Given the description of an element on the screen output the (x, y) to click on. 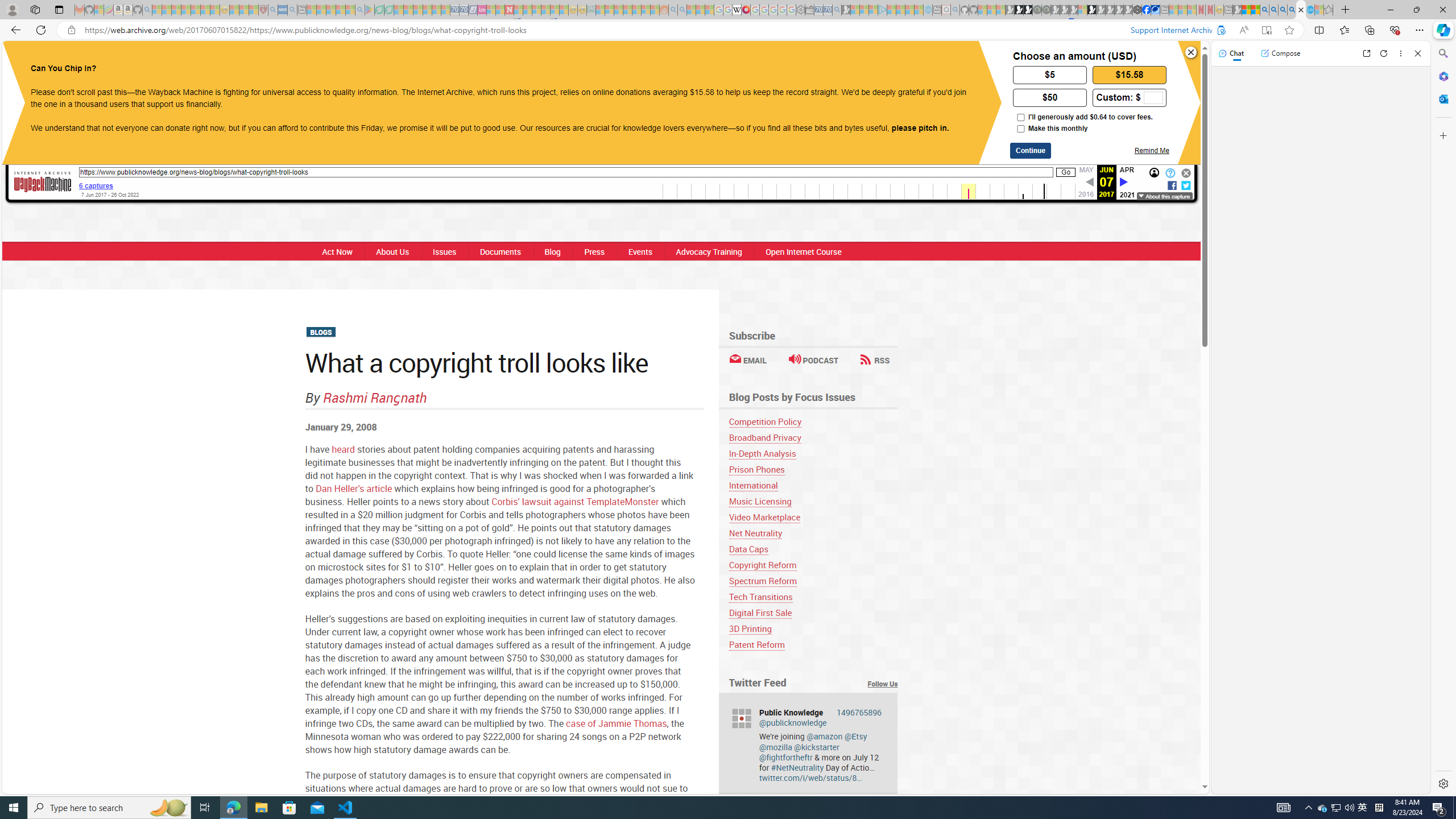
Documents (499, 251)
Video Marketplace (764, 517)
Broadband Privacy (813, 437)
YOUTUBE (737, 60)
Sign in to your account - Sleeping (1082, 9)
Support Internet Archive? (1217, 29)
Music Licensing (813, 500)
Act Now (334, 251)
Target page - Wikipedia (736, 9)
Blog (552, 251)
google - Search - Sleeping (359, 9)
